Given the description of an element on the screen output the (x, y) to click on. 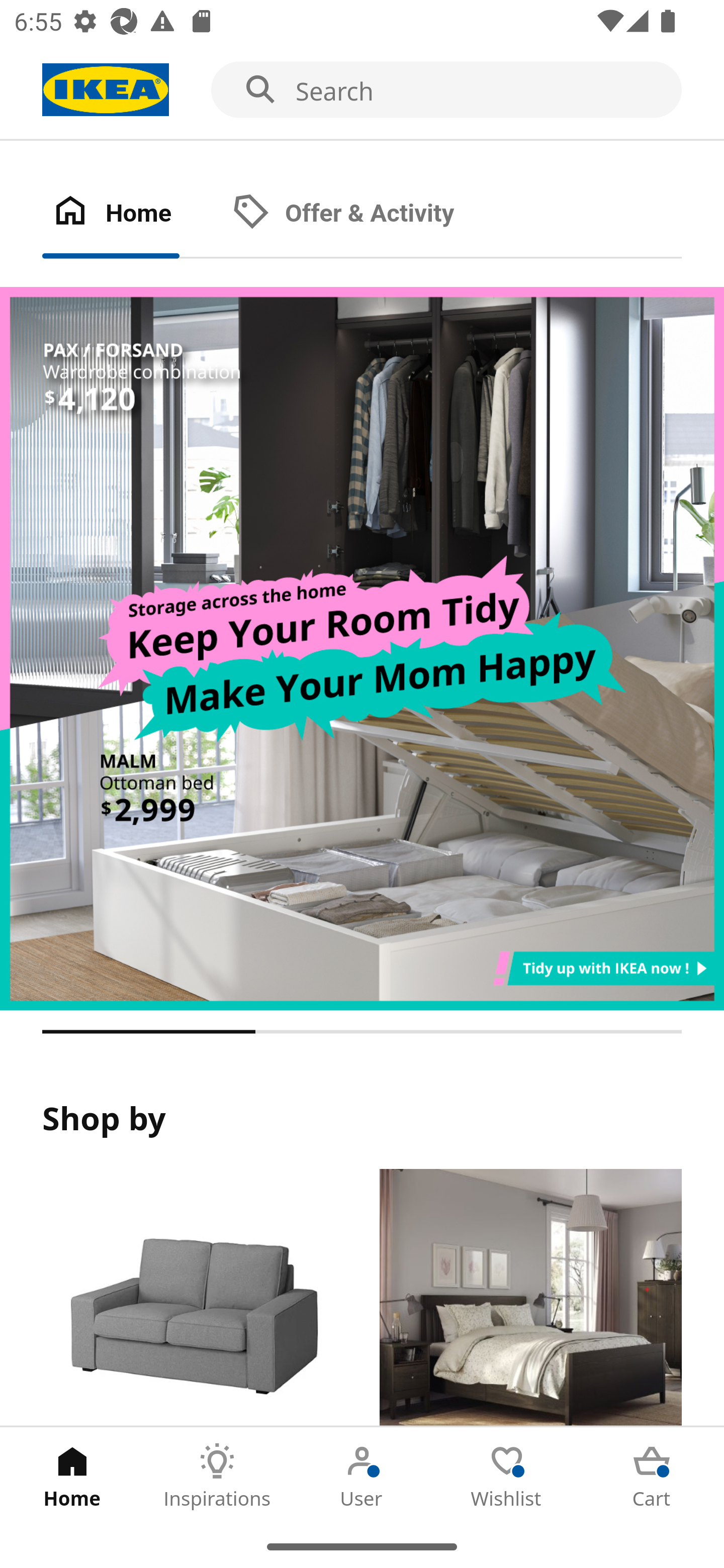
Search (361, 90)
Home
Tab 1 of 2 (131, 213)
Offer & Activity
Tab 2 of 2 (363, 213)
Products (192, 1297)
Rooms (530, 1297)
Home
Tab 1 of 5 (72, 1476)
Inspirations
Tab 2 of 5 (216, 1476)
User
Tab 3 of 5 (361, 1476)
Wishlist
Tab 4 of 5 (506, 1476)
Cart
Tab 5 of 5 (651, 1476)
